Given the description of an element on the screen output the (x, y) to click on. 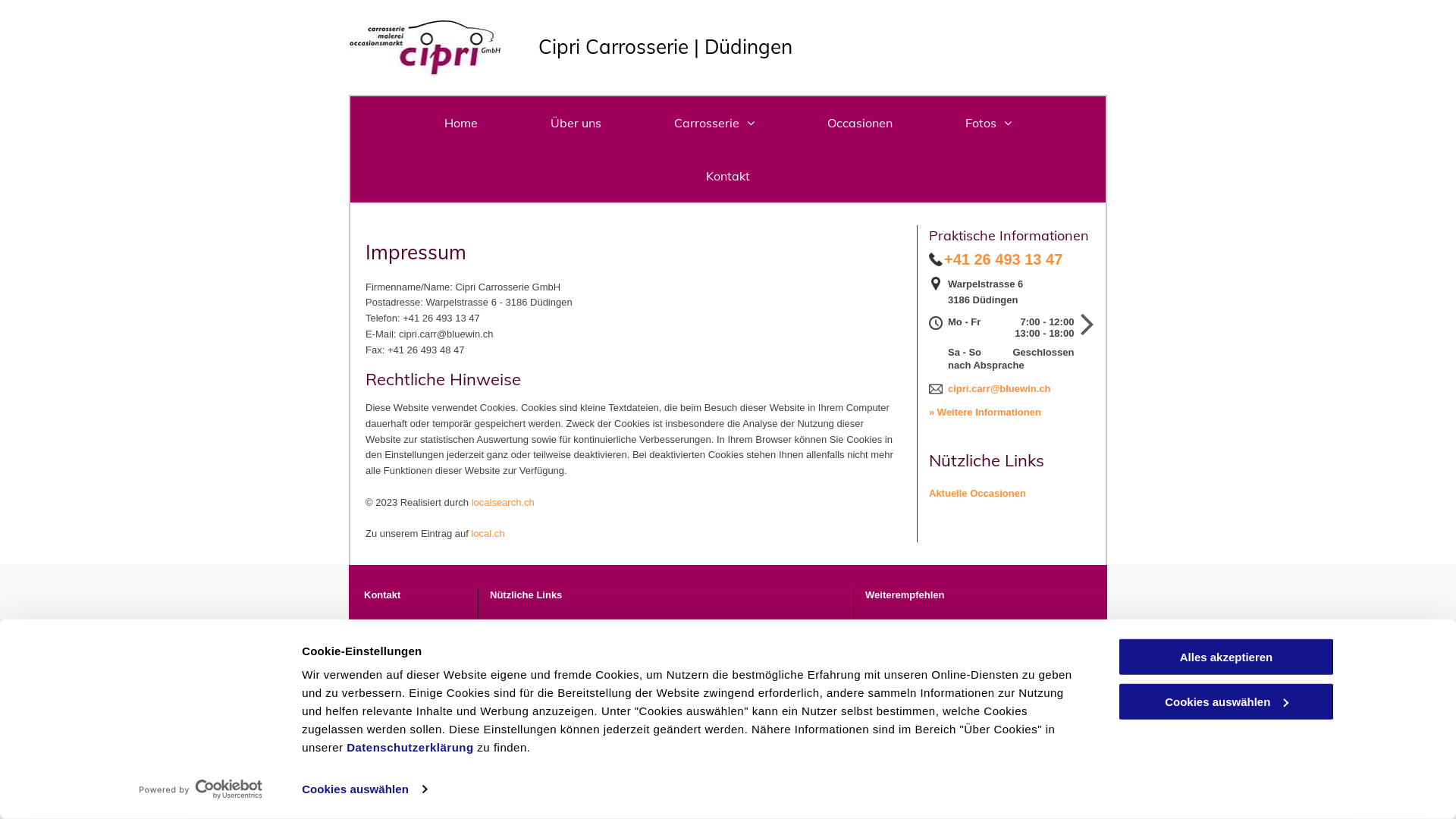
Aktuelle Occasionen Element type: text (977, 492)
fb:like Facebook Social Plugin Element type: hover (887, 629)
Impressum Element type: text (1065, 711)
Occasionen Element type: text (859, 122)
+41 26 493 13 47 Element type: text (1003, 259)
Home Element type: text (460, 122)
localsearch.ch Element type: text (502, 502)
+41 26 493 13 47 Element type: text (402, 672)
local.ch Element type: text (487, 533)
zum Formular Element type: text (396, 641)
cipri.carr@bluewin.ch Element type: text (999, 388)
+41 26 493 13 47 Element type: text (441, 317)
Alles akzeptieren Element type: text (1225, 656)
cipri.carr@bluewin.ch Element type: text (445, 333)
Carrosserie Element type: text (713, 122)
Aktuelle Occasionen Element type: text (537, 625)
Kontakt Element type: text (727, 175)
Fotos Element type: text (988, 122)
